Given the description of an element on the screen output the (x, y) to click on. 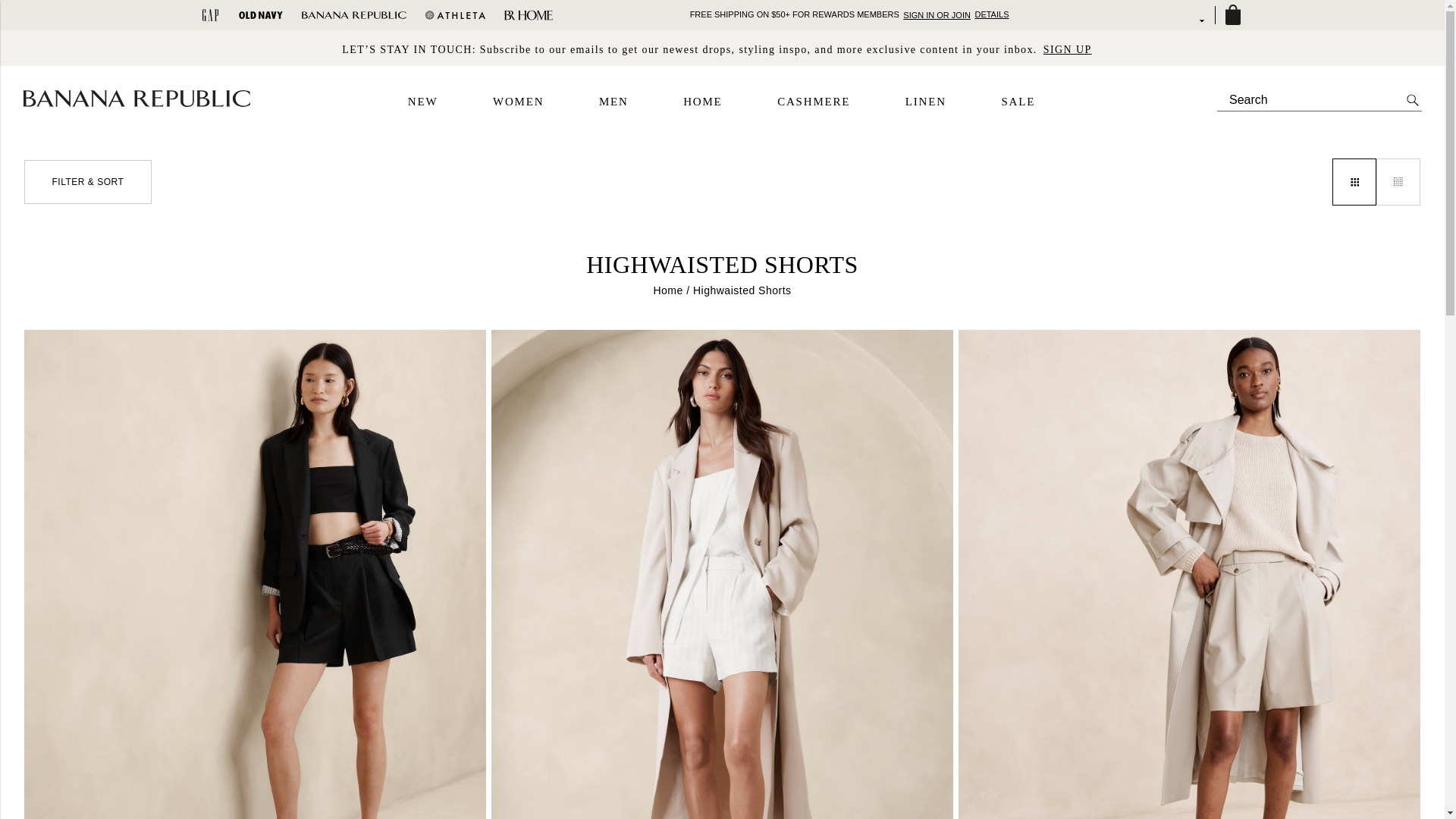
Bag (1232, 15)
SIGN UP (1067, 49)
CASHMERE (813, 101)
SALE (1018, 101)
MEN (613, 101)
SIGN IN OR JOIN (937, 14)
NEW (422, 101)
WOMEN (518, 101)
